Given the description of an element on the screen output the (x, y) to click on. 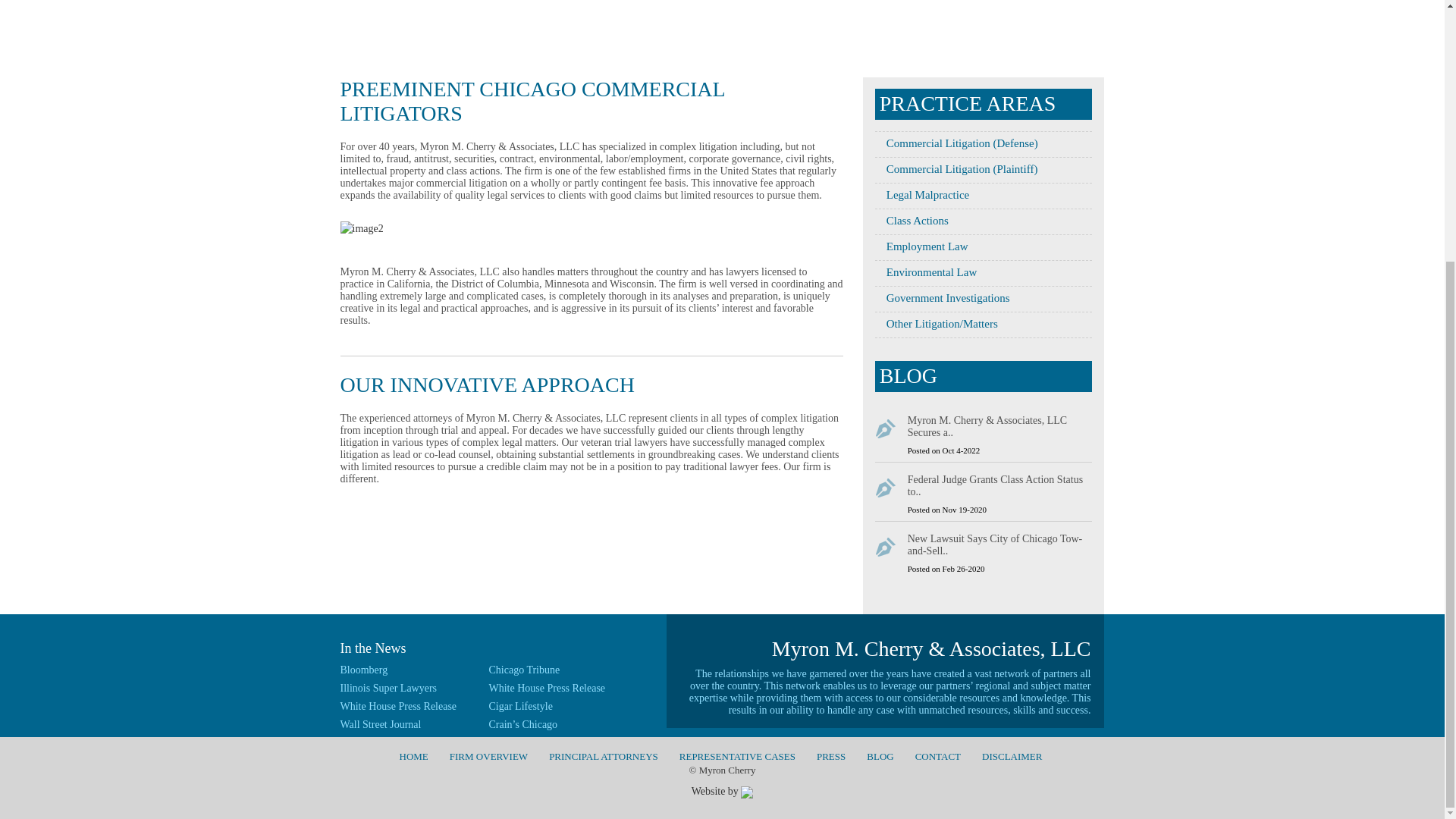
Chicago Tribune (523, 669)
Bloomberg (363, 669)
Employment Law (921, 246)
Posted on Nov 19-2020 (947, 509)
Environmental Law (925, 272)
New Lawsuit Says City of Chicago Tow-and-Sell.. (1000, 548)
Posted on Feb 26-2020 (946, 568)
Federal Judge Grants Class Action Status to.. (1000, 489)
Government Investigations (942, 297)
Legal Malpractice (922, 194)
